Given the description of an element on the screen output the (x, y) to click on. 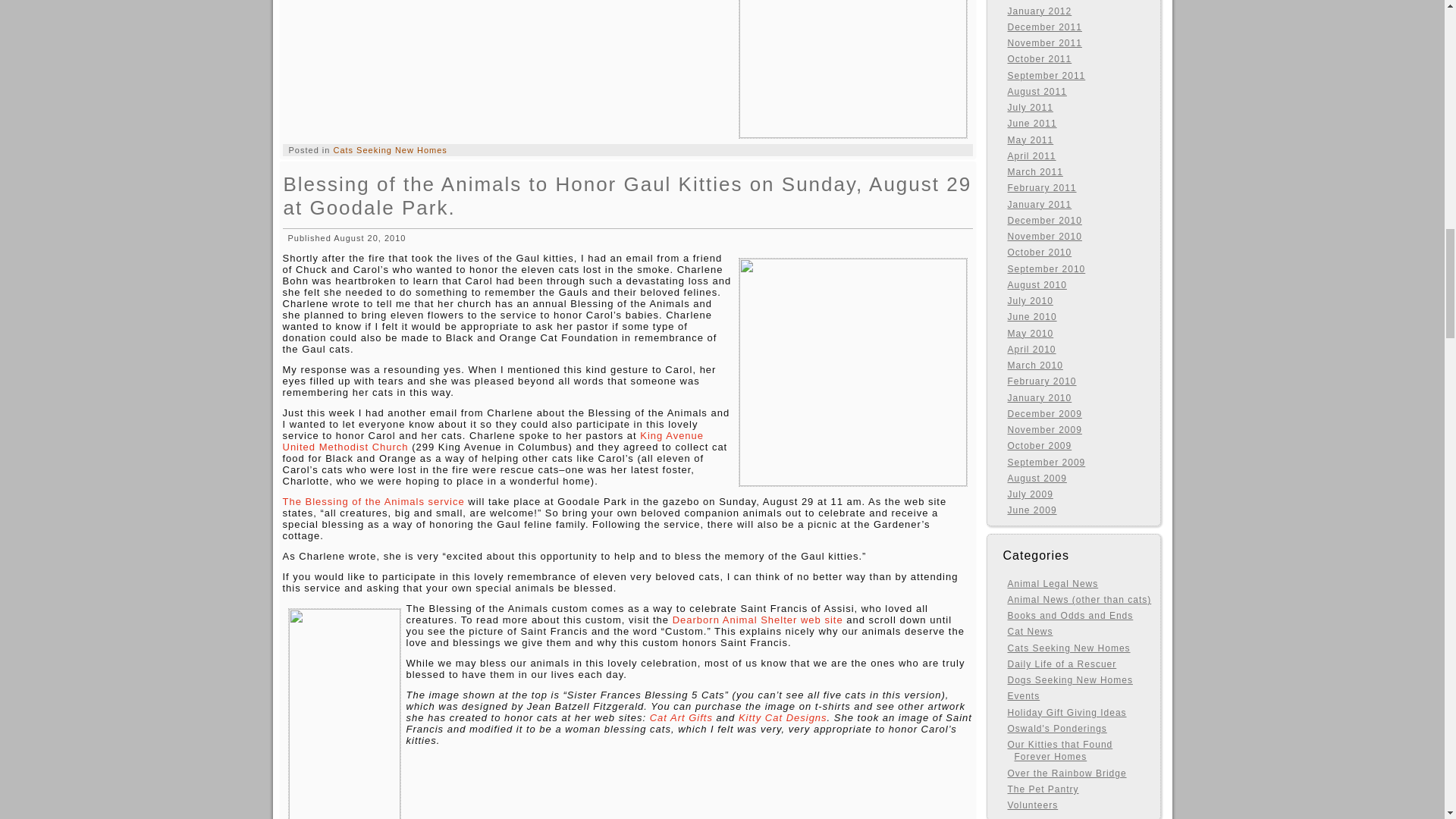
The Blessing of the Animals service (373, 501)
Dearborn Animal Shelter web site (757, 619)
Cats Seeking New Homes (389, 149)
King Avenue United Methodist Church (492, 440)
Kitty Cat Designs (782, 717)
3:03 am (369, 237)
sassy (853, 69)
Cat Art Gifts (681, 717)
